Given the description of an element on the screen output the (x, y) to click on. 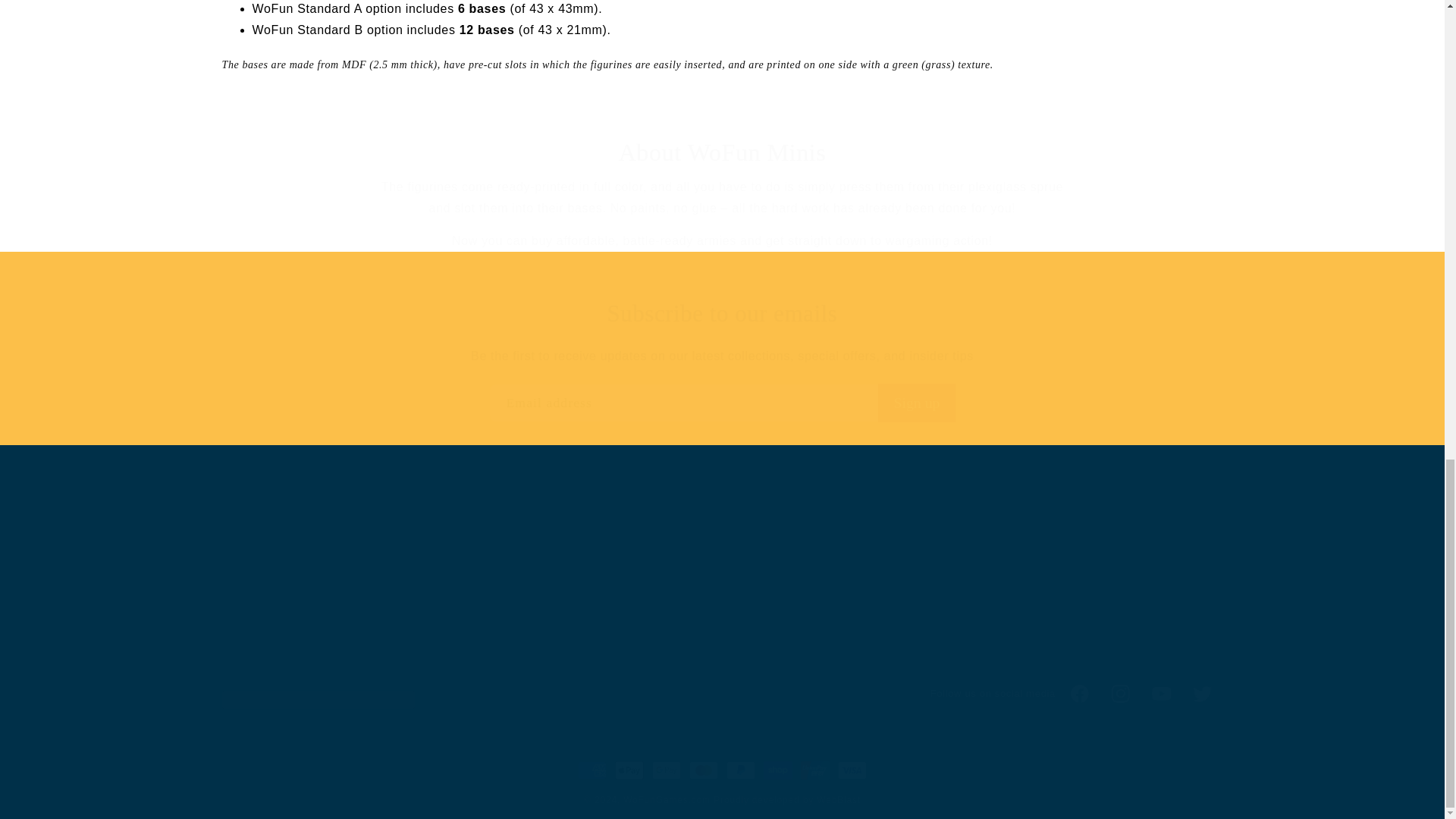
Subscribe to our emails (722, 313)
About WoFun Minis (721, 403)
